Given the description of an element on the screen output the (x, y) to click on. 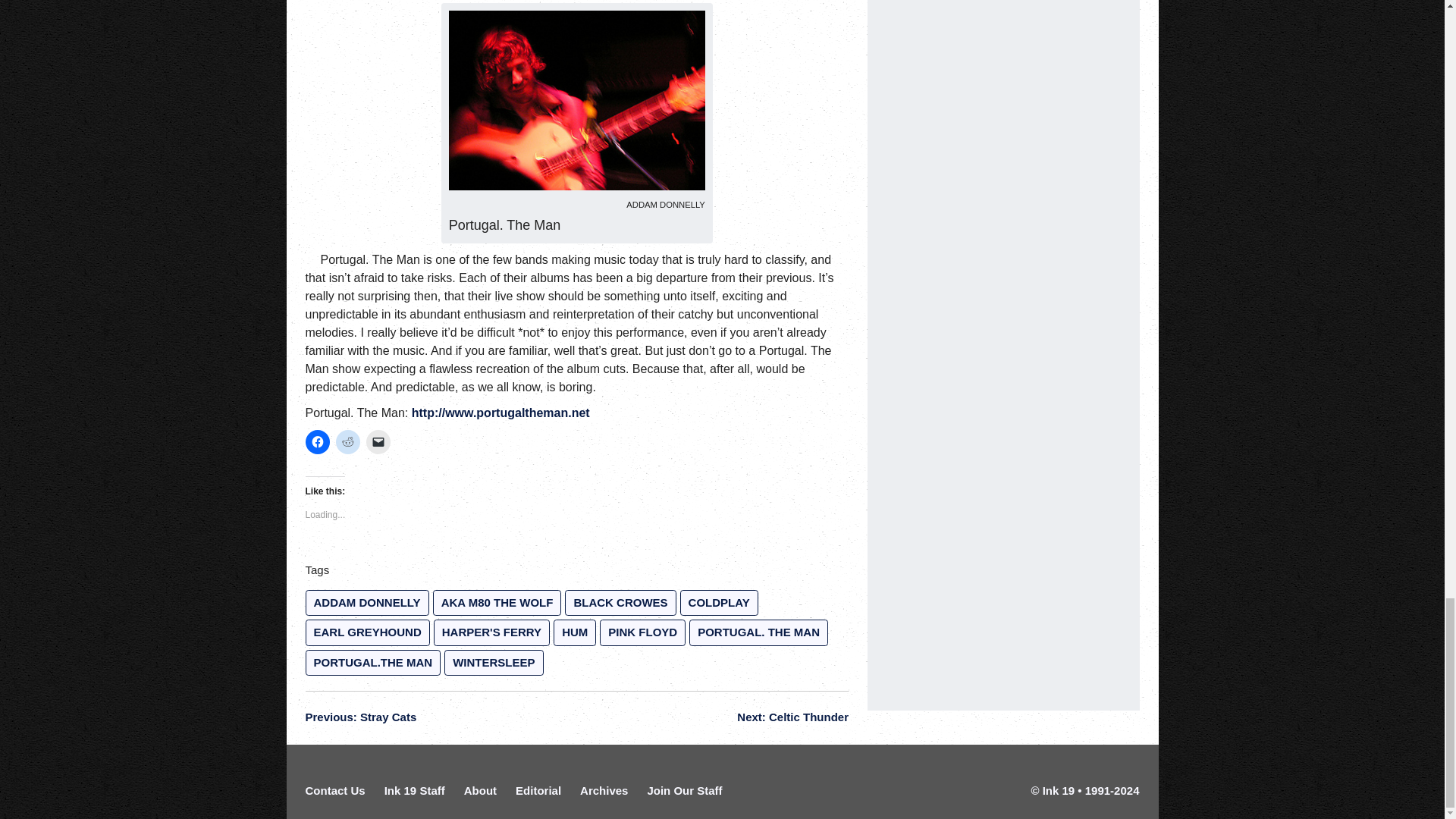
Portugal. The Man (576, 100)
Click to share on Reddit (346, 441)
Click to share on Facebook (316, 441)
Click to email a link to a friend (377, 441)
